Given the description of an element on the screen output the (x, y) to click on. 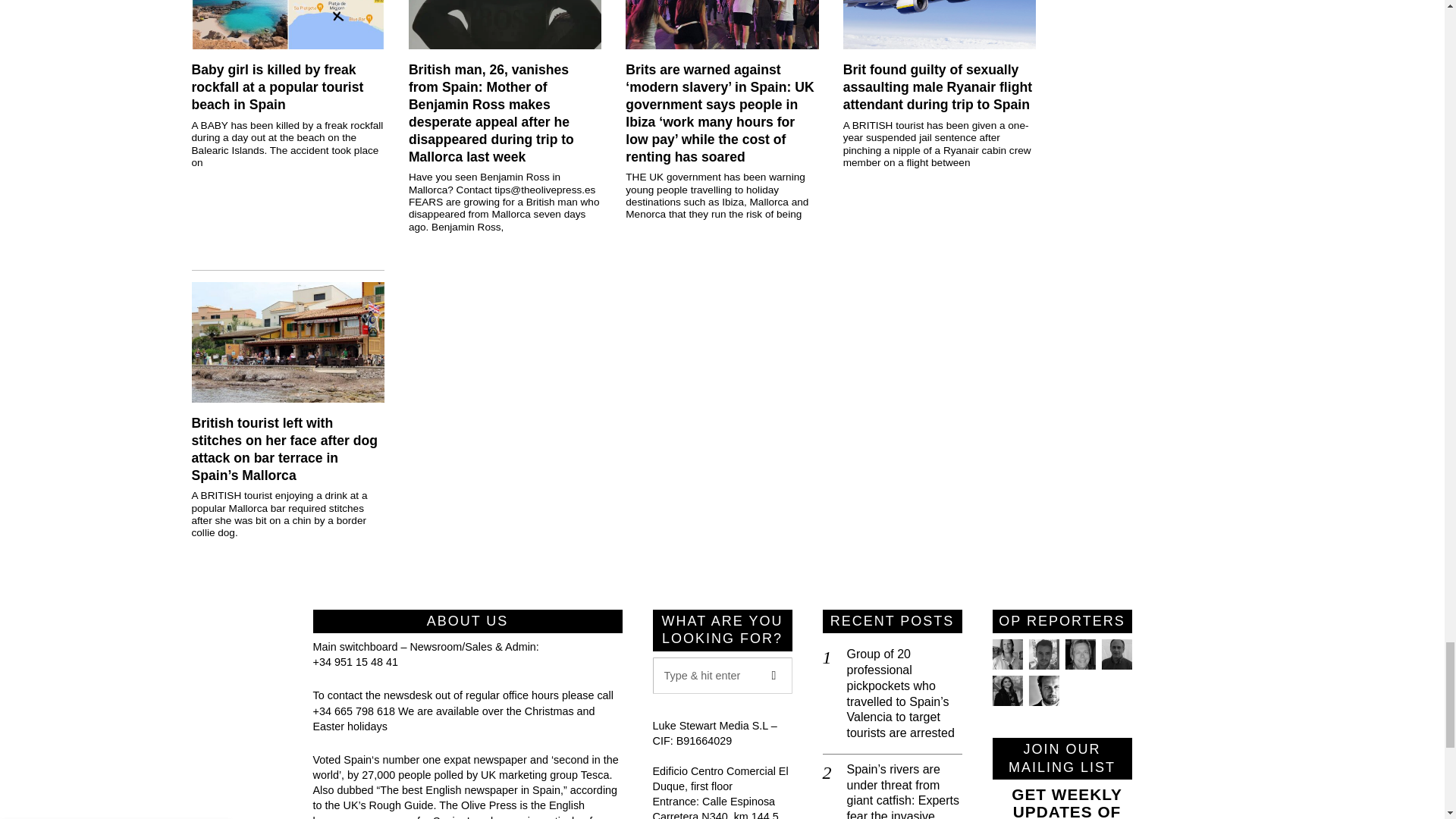
Laurence Dollimore (1042, 654)
Dilip Kuner (1115, 654)
Go (773, 674)
Alex Trelinski (1079, 654)
